Given the description of an element on the screen output the (x, y) to click on. 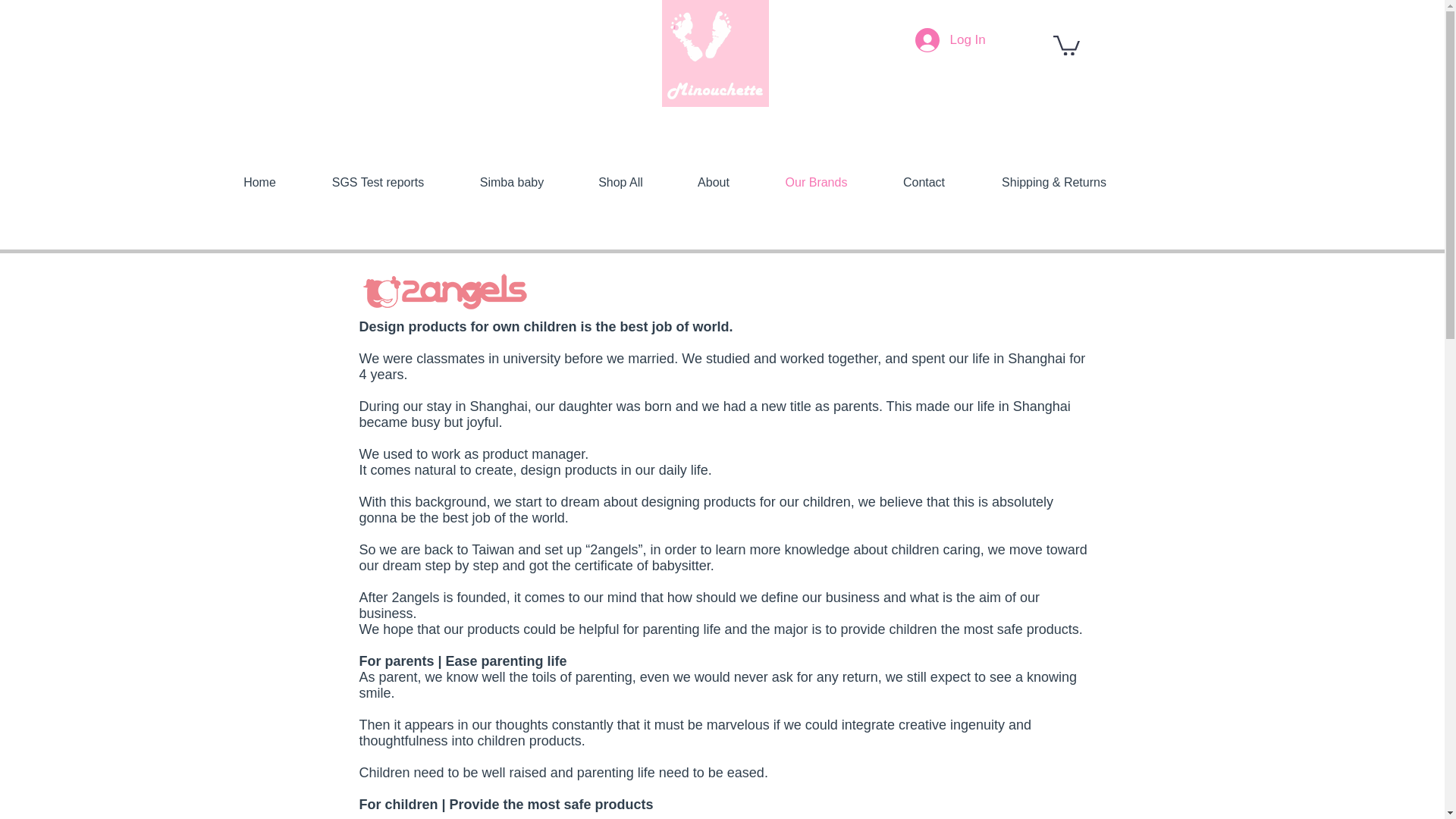
Contact (923, 182)
Log In (941, 39)
Our Brands (816, 182)
Home (258, 182)
About (713, 182)
Simba baby (510, 182)
SGS Test reports (376, 182)
Shop All (620, 182)
